Given the description of an element on the screen output the (x, y) to click on. 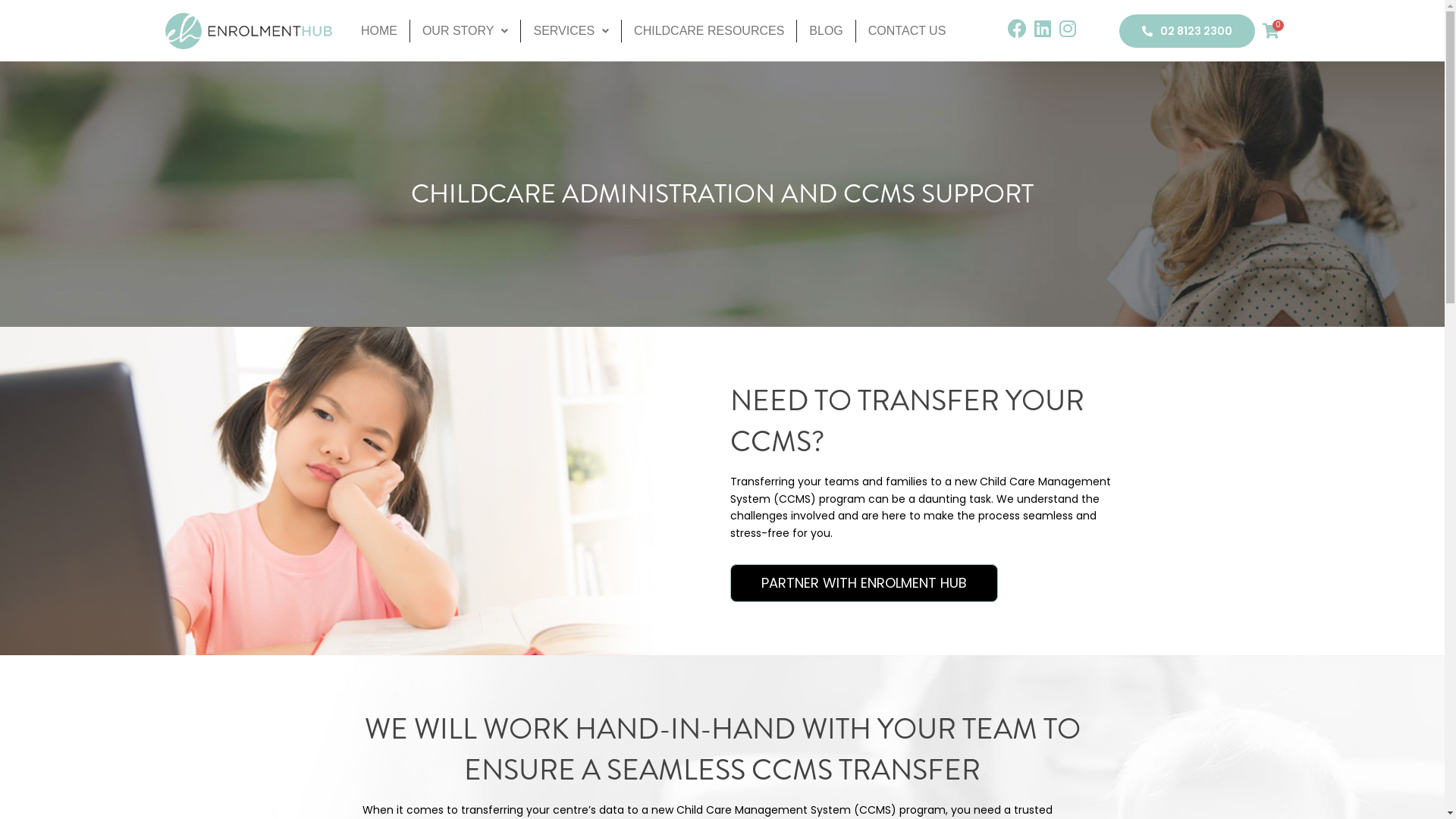
SERVICES Element type: text (570, 30)
0 Element type: text (1271, 30)
HOME Element type: text (379, 30)
CHILDCARE RESOURCES Element type: text (709, 30)
OUR STORY Element type: text (465, 30)
BLOG Element type: text (826, 30)
CONTACT US Element type: text (907, 30)
PARTNER WITH ENROLMENT HUB Element type: text (863, 583)
02 8123 2300 Element type: text (1187, 30)
